Given the description of an element on the screen output the (x, y) to click on. 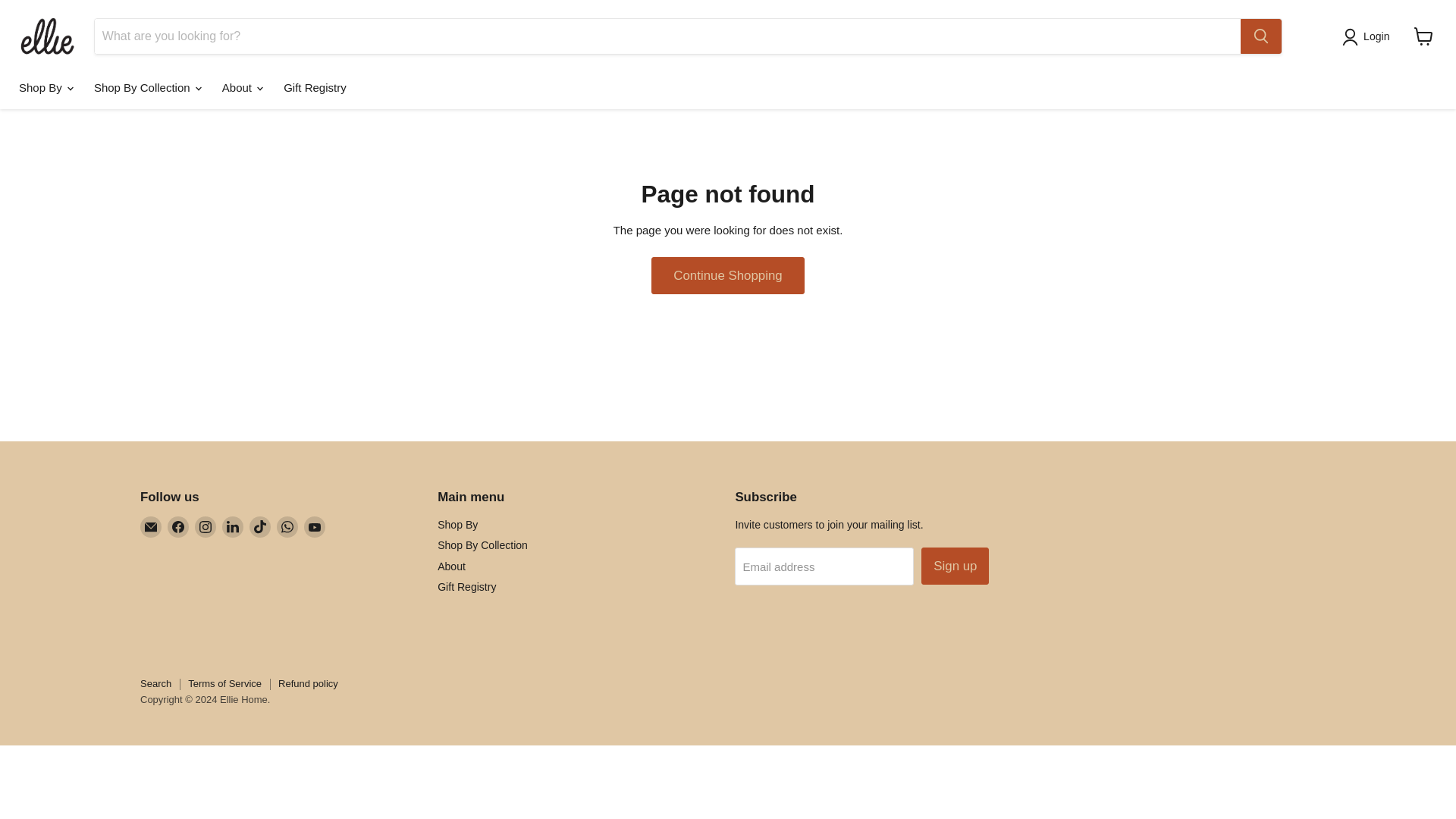
Instagram (205, 526)
YouTube (314, 526)
Email (150, 526)
Facebook (178, 526)
Login (1368, 36)
TikTok (259, 526)
View cart (1423, 36)
LinkedIn (232, 526)
WhatsApp (287, 526)
